Given the description of an element on the screen output the (x, y) to click on. 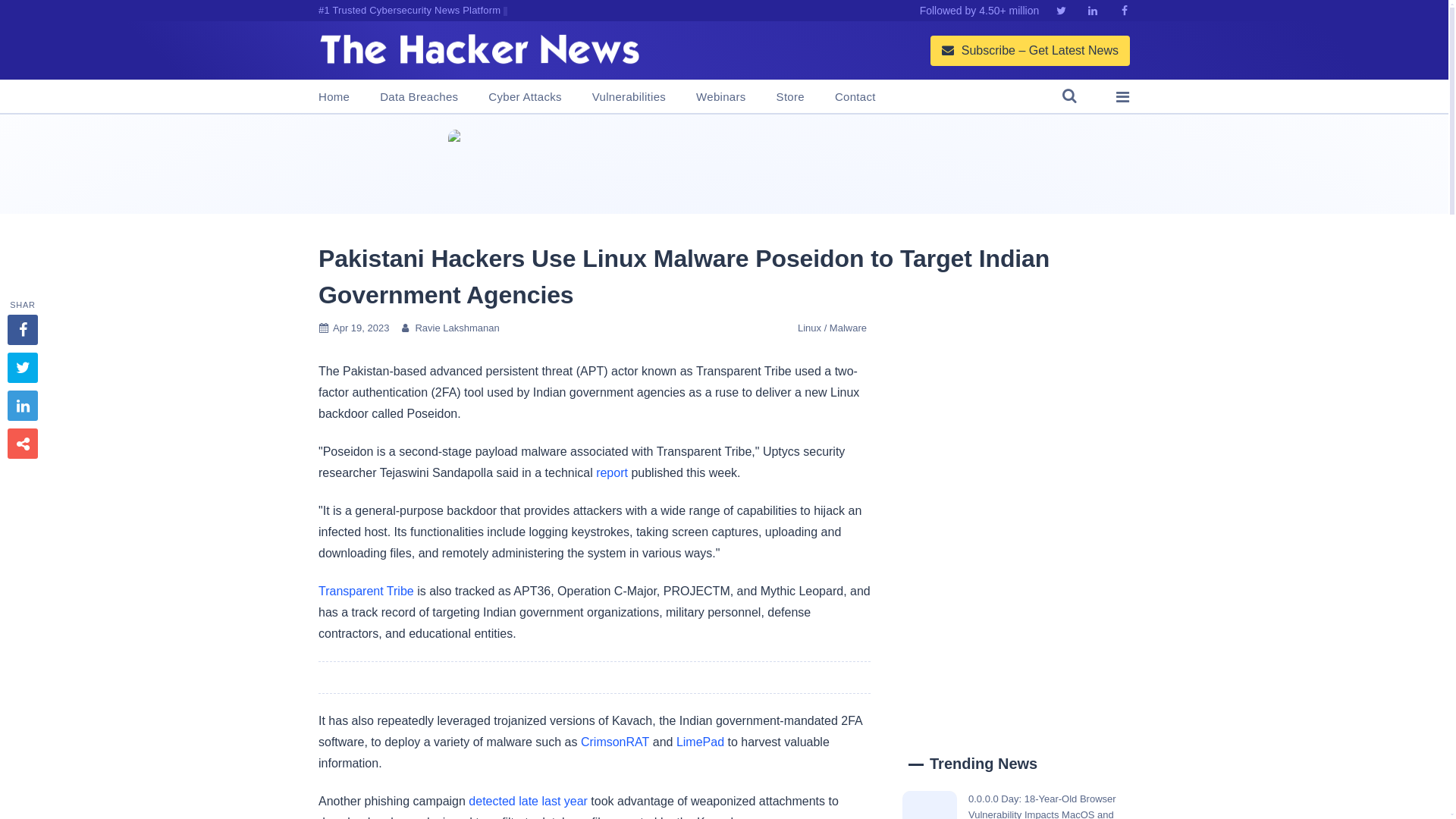
Vulnerabilities (628, 96)
Contact (855, 96)
Home (333, 96)
Cyber Attacks (523, 96)
Transparent Tribe (365, 590)
CrimsonRAT (614, 741)
report (611, 472)
